Given the description of an element on the screen output the (x, y) to click on. 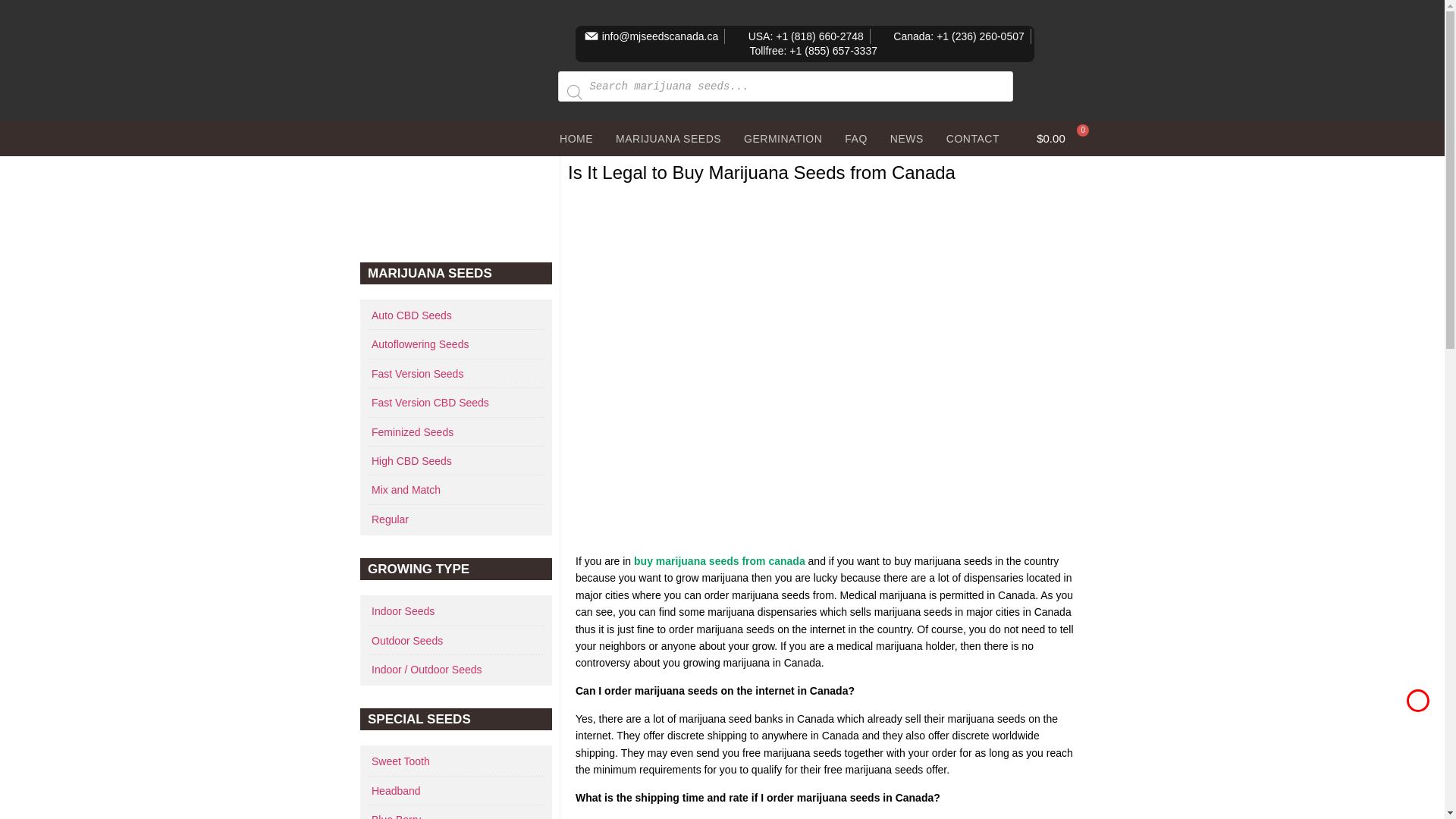
HOME (576, 138)
NEWS (906, 138)
CONTACT (972, 138)
mjsc-live-chat-sidebar (455, 205)
MARIJUANA SEEDS (668, 138)
GERMINATION (782, 138)
mjseedsca-logo-footer (464, 87)
FAQ (855, 138)
